Given the description of an element on the screen output the (x, y) to click on. 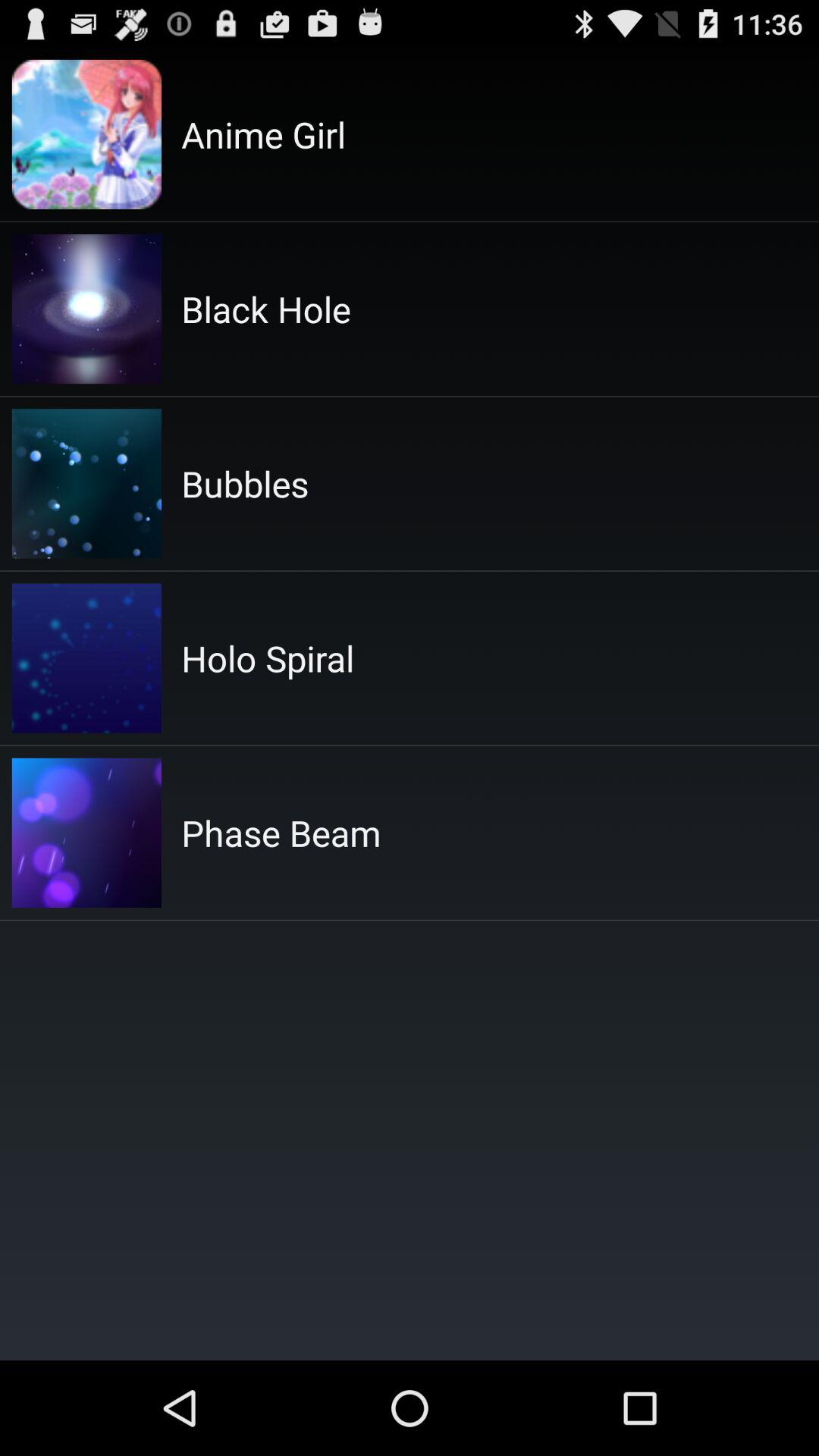
press the holo spiral app (267, 658)
